Given the description of an element on the screen output the (x, y) to click on. 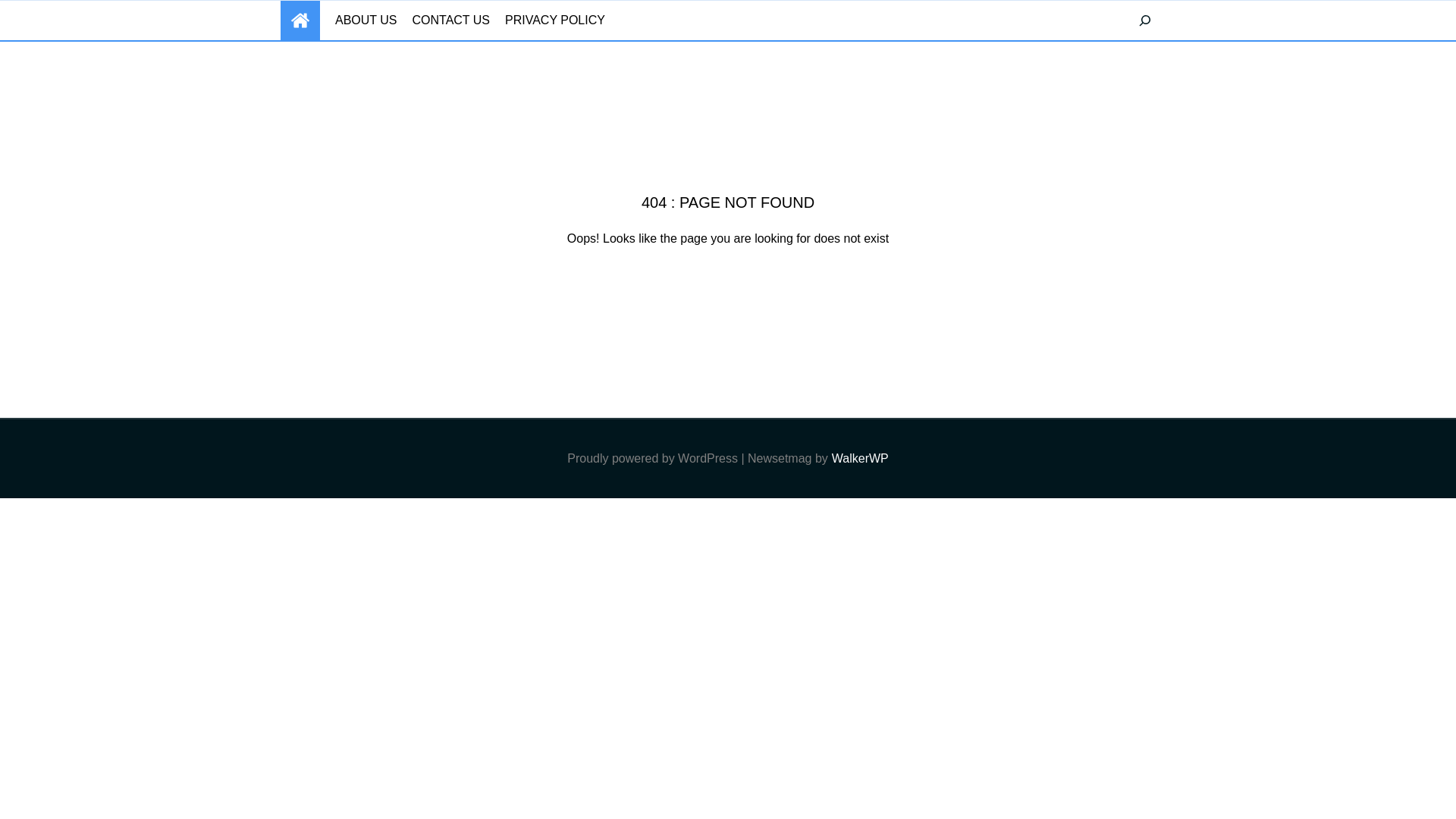
HOME (300, 20)
PRIVACY POLICY (555, 20)
ABOUT US (365, 20)
WalkerWP (859, 458)
CONTACT US (451, 20)
